Given the description of an element on the screen output the (x, y) to click on. 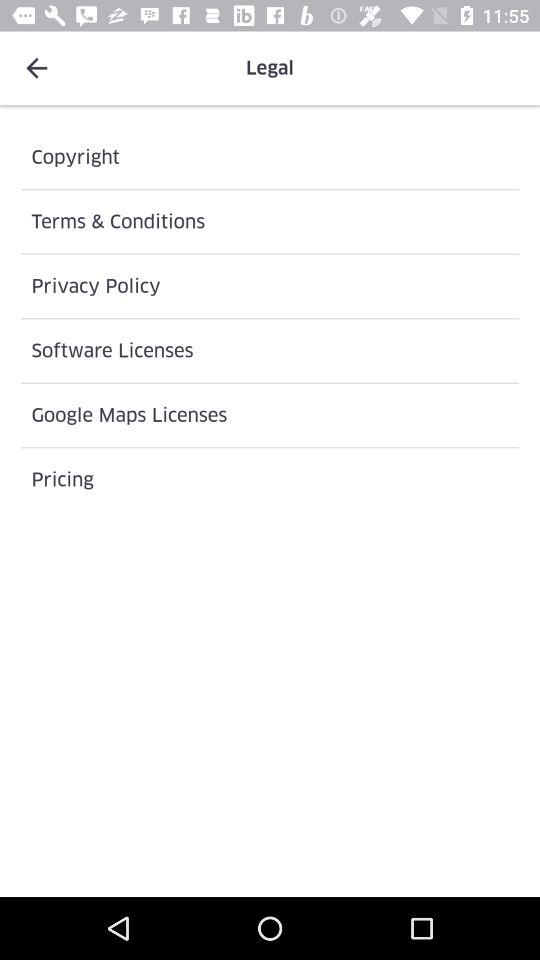
flip to the privacy policy icon (270, 286)
